Given the description of an element on the screen output the (x, y) to click on. 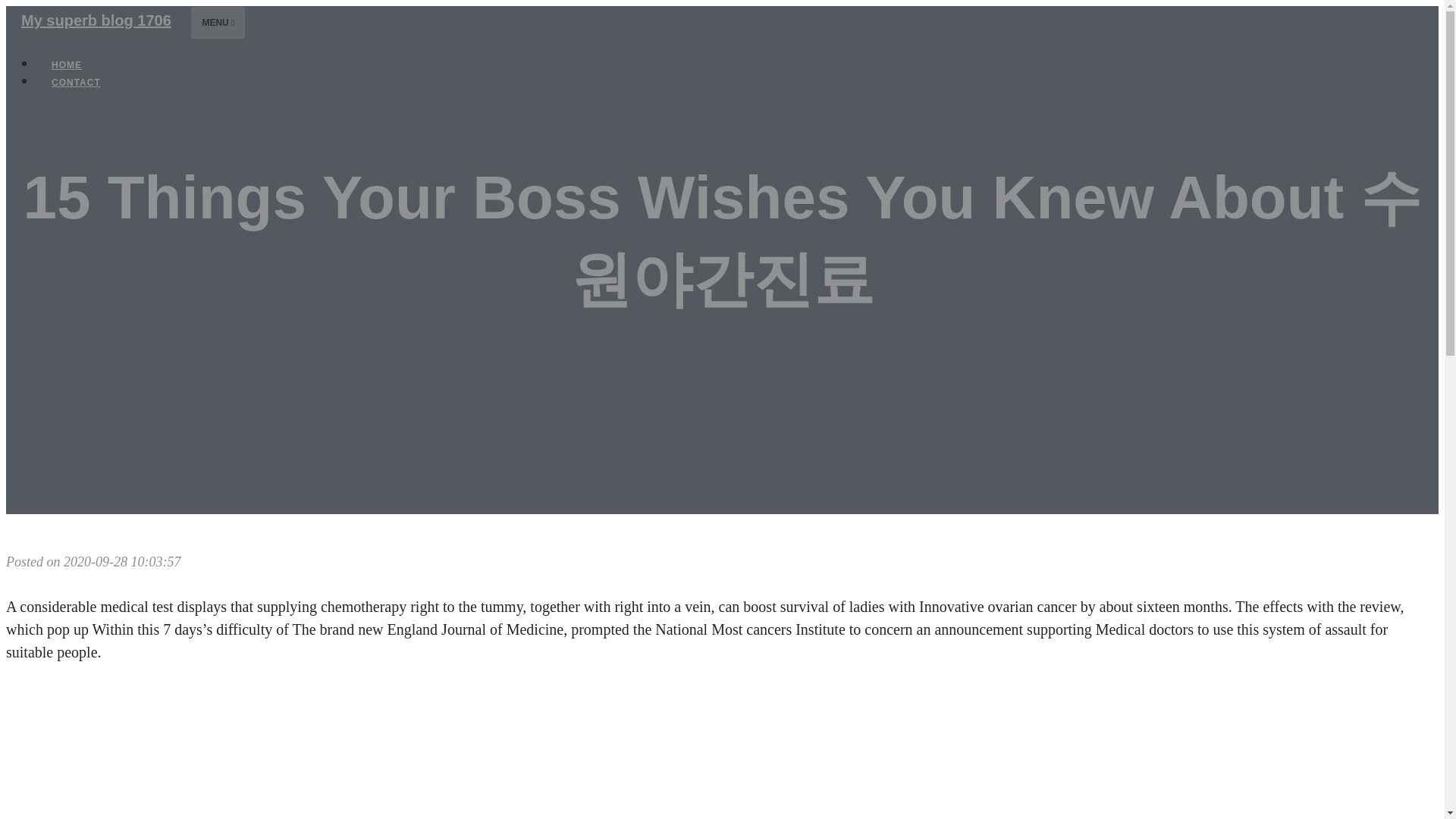
CONTACT (76, 82)
HOME (66, 64)
My superb blog 1706 (95, 20)
MENU (218, 22)
